Given the description of an element on the screen output the (x, y) to click on. 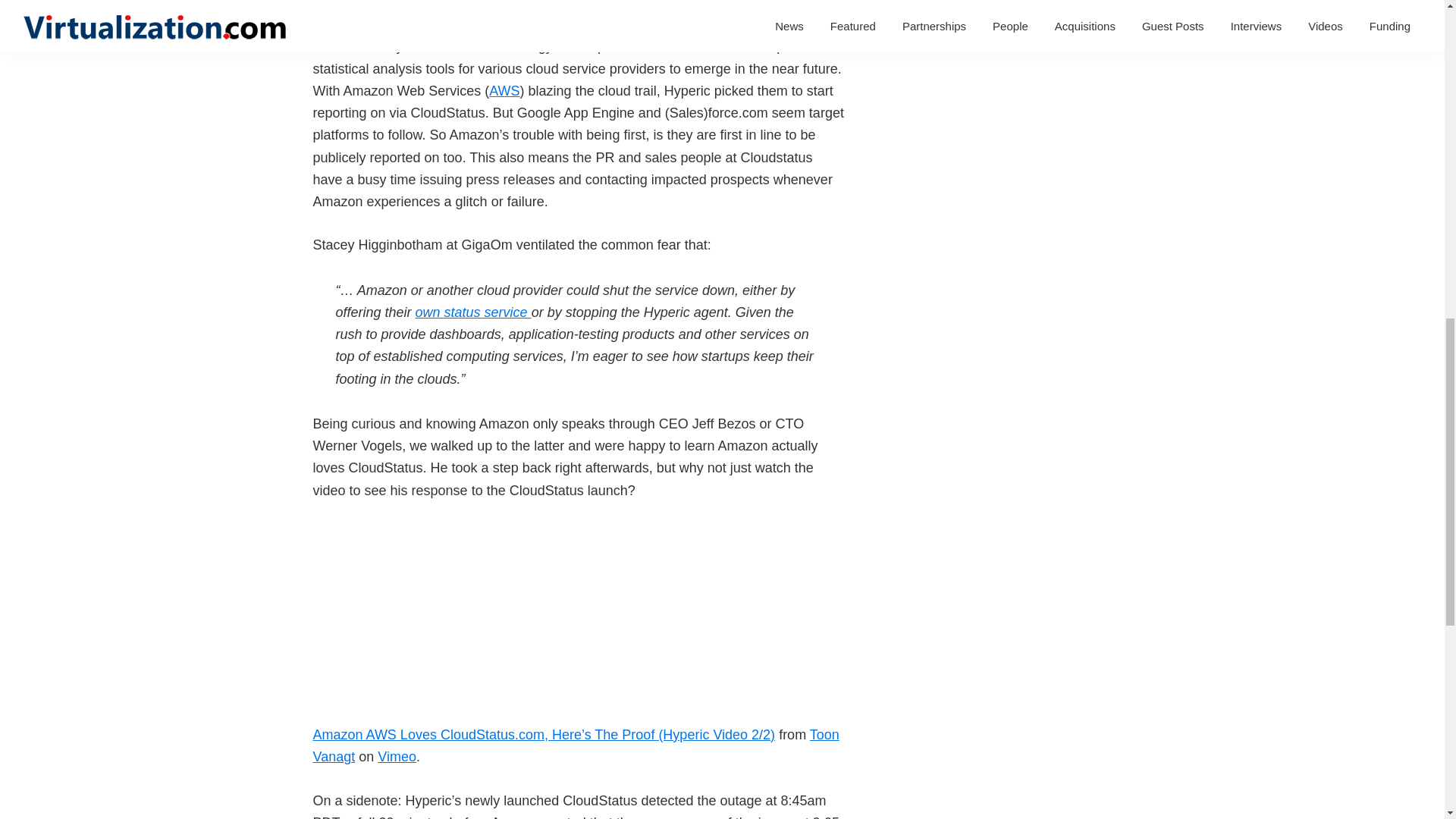
AWS (504, 90)
Vimeo (396, 756)
own status service (472, 312)
AWS status service at Amazon (472, 312)
Toon Vanagt (575, 745)
The AWS blog (504, 90)
